Given the description of an element on the screen output the (x, y) to click on. 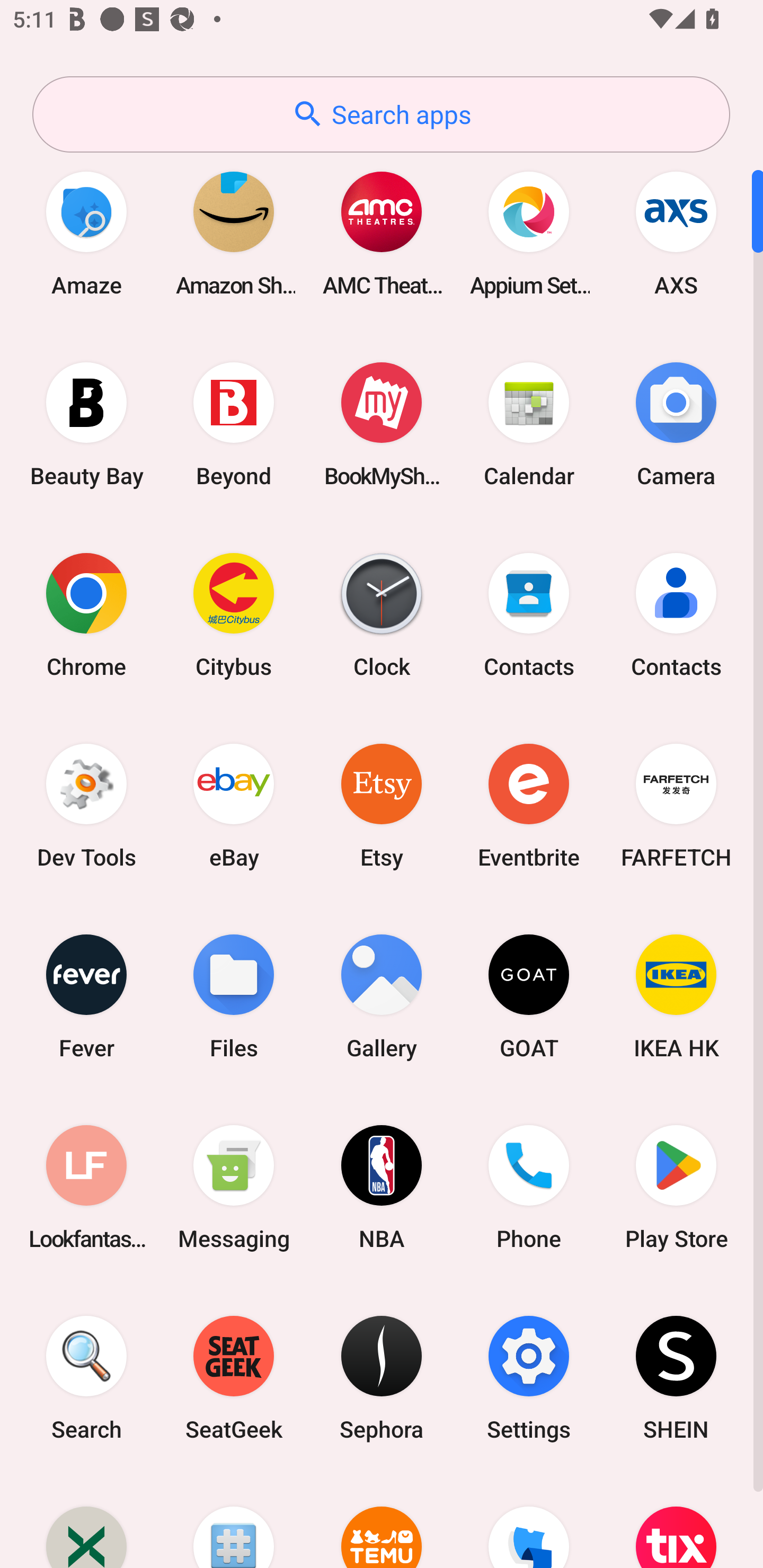
  Search apps (381, 114)
Amaze (86, 233)
Amazon Shopping (233, 233)
AMC Theatres (381, 233)
Appium Settings (528, 233)
AXS (676, 233)
Beauty Bay (86, 424)
Beyond (233, 424)
BookMyShow (381, 424)
Calendar (528, 424)
Camera (676, 424)
Chrome (86, 614)
Citybus (233, 614)
Clock (381, 614)
Contacts (528, 614)
Contacts (676, 614)
Dev Tools (86, 805)
eBay (233, 805)
Etsy (381, 805)
Eventbrite (528, 805)
FARFETCH (676, 805)
Fever (86, 996)
Files (233, 996)
Gallery (381, 996)
GOAT (528, 996)
IKEA HK (676, 996)
Lookfantastic (86, 1186)
Messaging (233, 1186)
NBA (381, 1186)
Phone (528, 1186)
Play Store (676, 1186)
Search (86, 1377)
SeatGeek (233, 1377)
Sephora (381, 1377)
Settings (528, 1377)
SHEIN (676, 1377)
StockX (86, 1520)
Superuser (233, 1520)
Temu (381, 1520)
TickPick (528, 1520)
TodayTix (676, 1520)
